Given the description of an element on the screen output the (x, y) to click on. 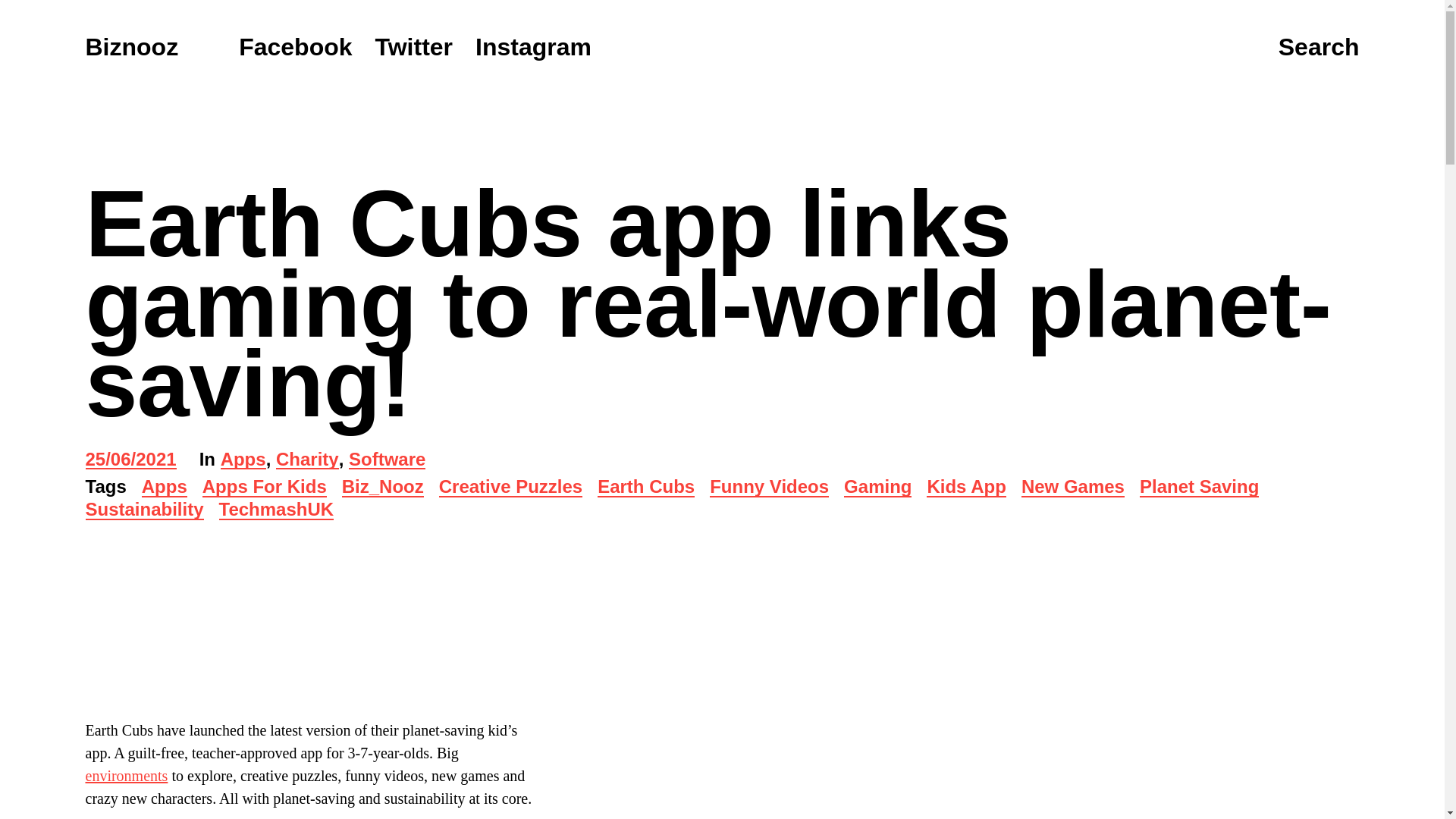
Earth Cubs (645, 487)
Sustainability (143, 510)
Apps (164, 487)
TechmashUK (276, 510)
Apps For Kids (264, 487)
Trees and Rewards - Earth Cubs app release! (281, 637)
Twitter (413, 47)
Facebook (295, 47)
Gaming (877, 487)
New Games (1073, 487)
